Given the description of an element on the screen output the (x, y) to click on. 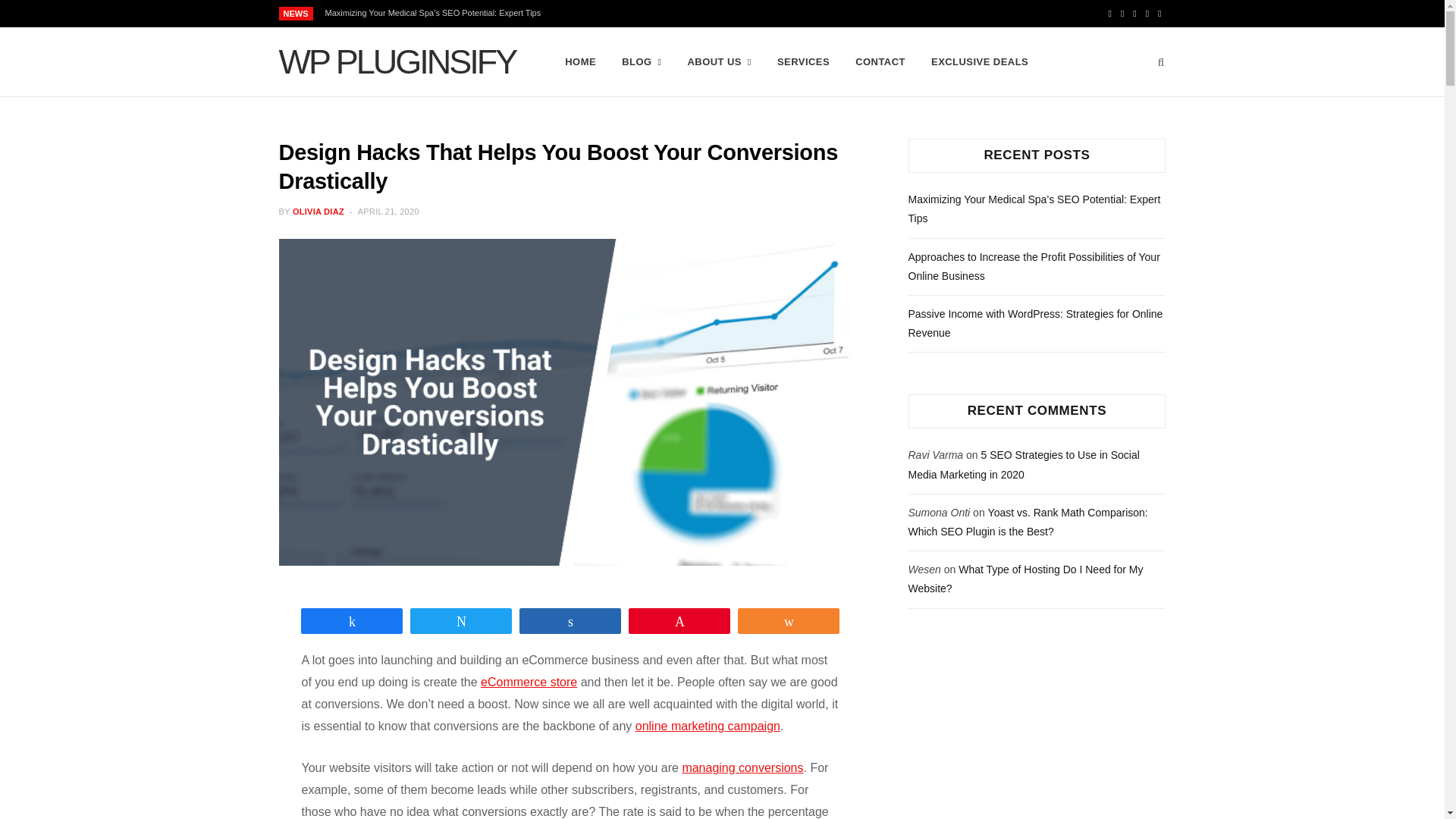
Pinterest (1134, 13)
Posts by Olivia Diaz (317, 211)
CONTACT (880, 61)
Search (1161, 61)
BLOG (641, 61)
EXCLUSIVE DEALS (979, 61)
RSS (1147, 13)
WP PLUGINSIFY (397, 61)
Facebook (1109, 13)
LinkedIn (1159, 13)
Twitter (1122, 13)
WP Pluginsify (397, 61)
HOME (580, 61)
SERVICES (803, 61)
